Given the description of an element on the screen output the (x, y) to click on. 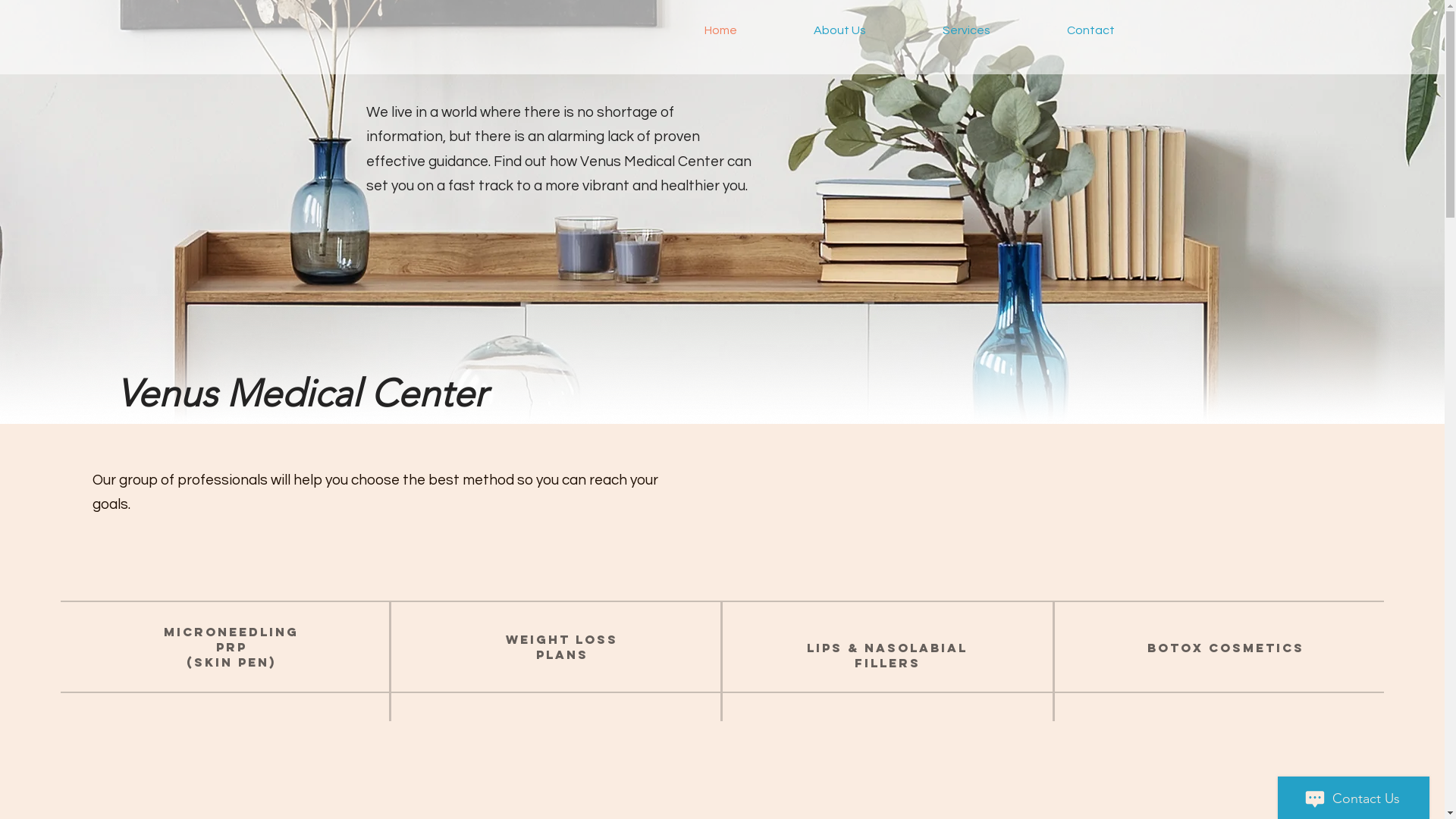
About Us Element type: text (839, 30)
Contact Element type: text (1090, 30)
Services Element type: text (965, 30)
Home Element type: text (720, 30)
